Given the description of an element on the screen output the (x, y) to click on. 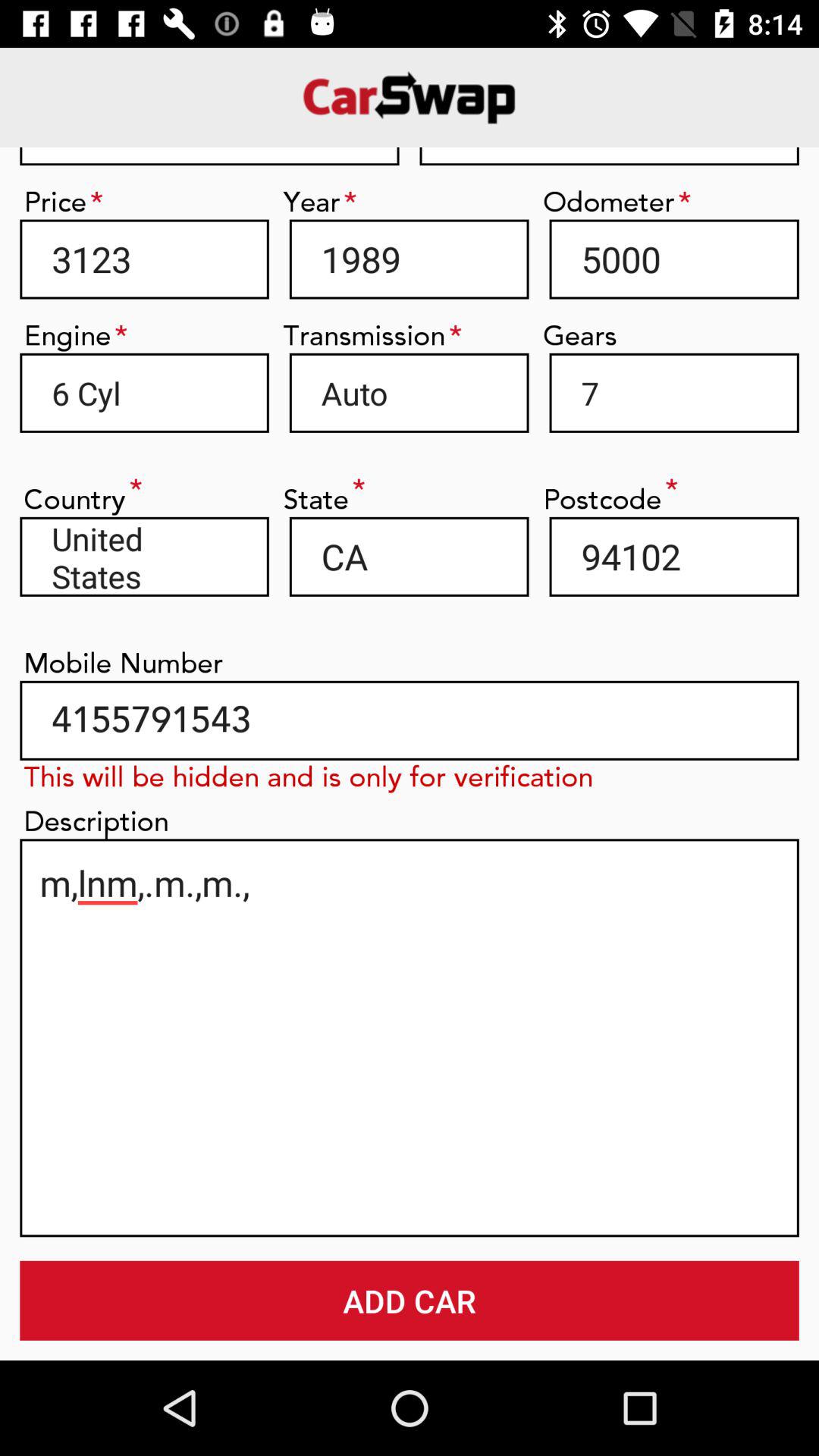
select item to the right of the 1989 (674, 259)
